Given the description of an element on the screen output the (x, y) to click on. 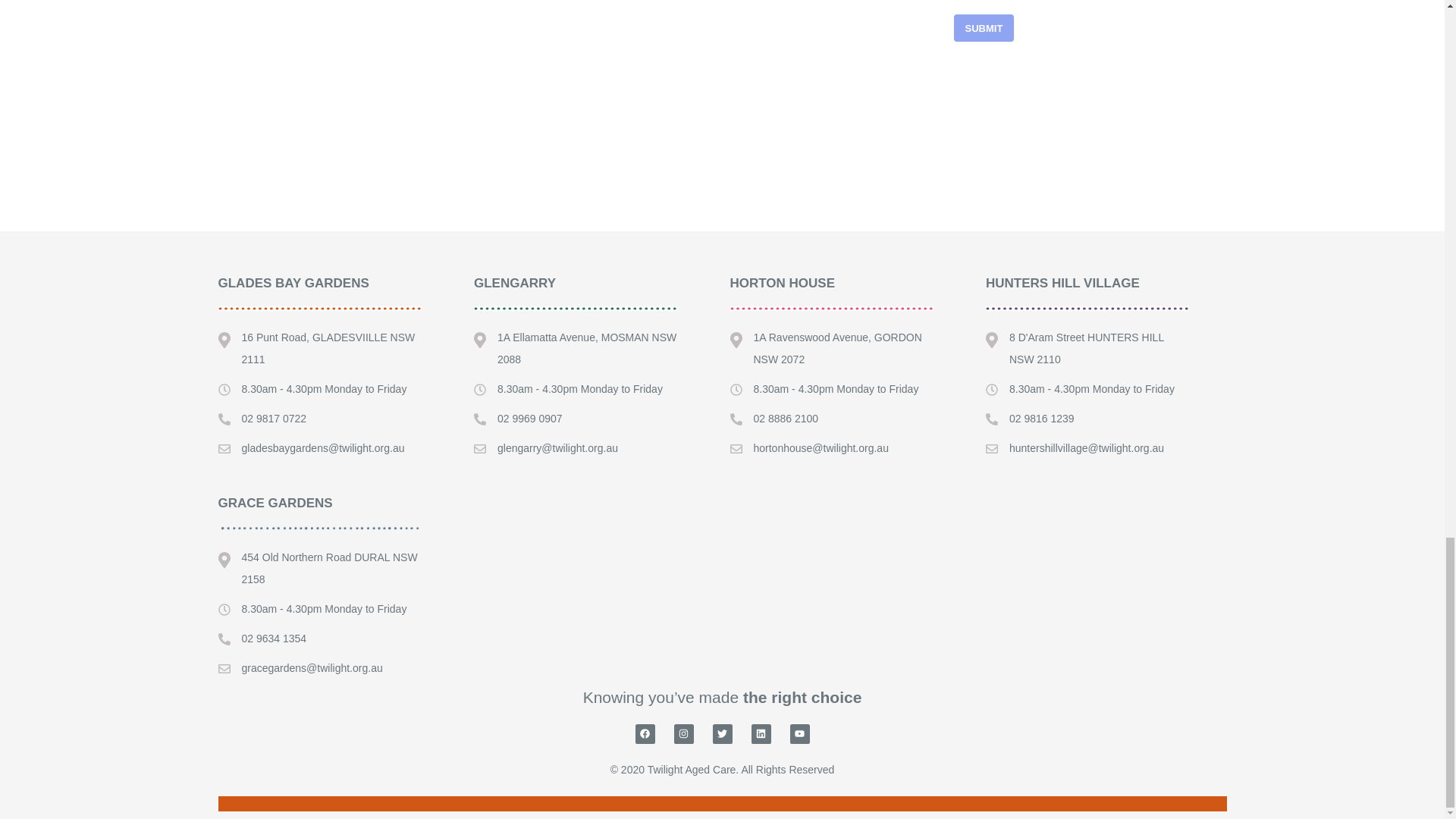
Submit (983, 27)
